Given the description of an element on the screen output the (x, y) to click on. 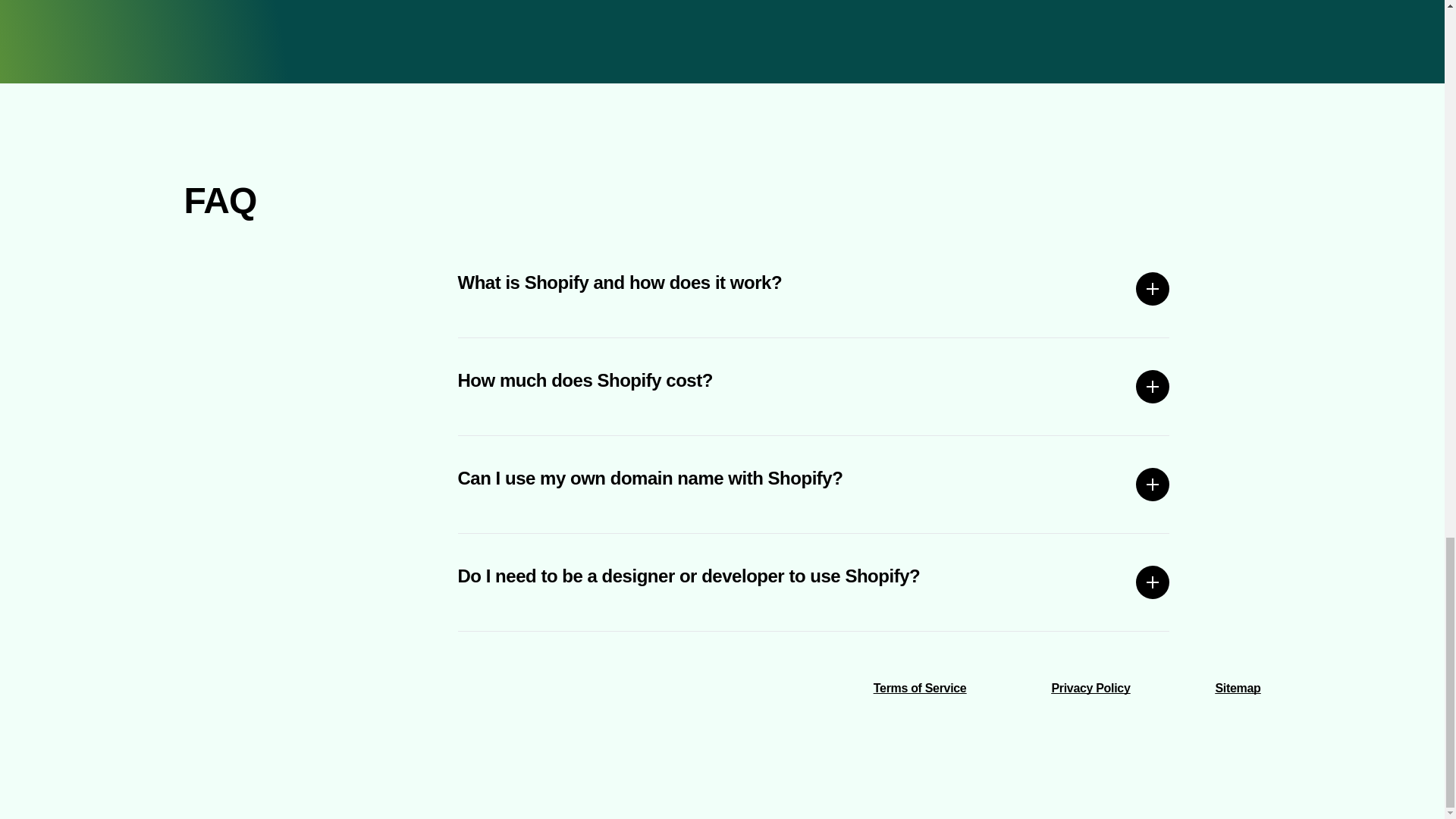
Do I need to be a designer or developer to use Shopify? (814, 582)
What is Shopify and how does it work? (814, 289)
Sitemap (1237, 687)
Terms of Service (919, 687)
How much does Shopify cost? (814, 386)
Privacy Policy (1090, 687)
Can I use my own domain name with Shopify? (814, 484)
